Given the description of an element on the screen output the (x, y) to click on. 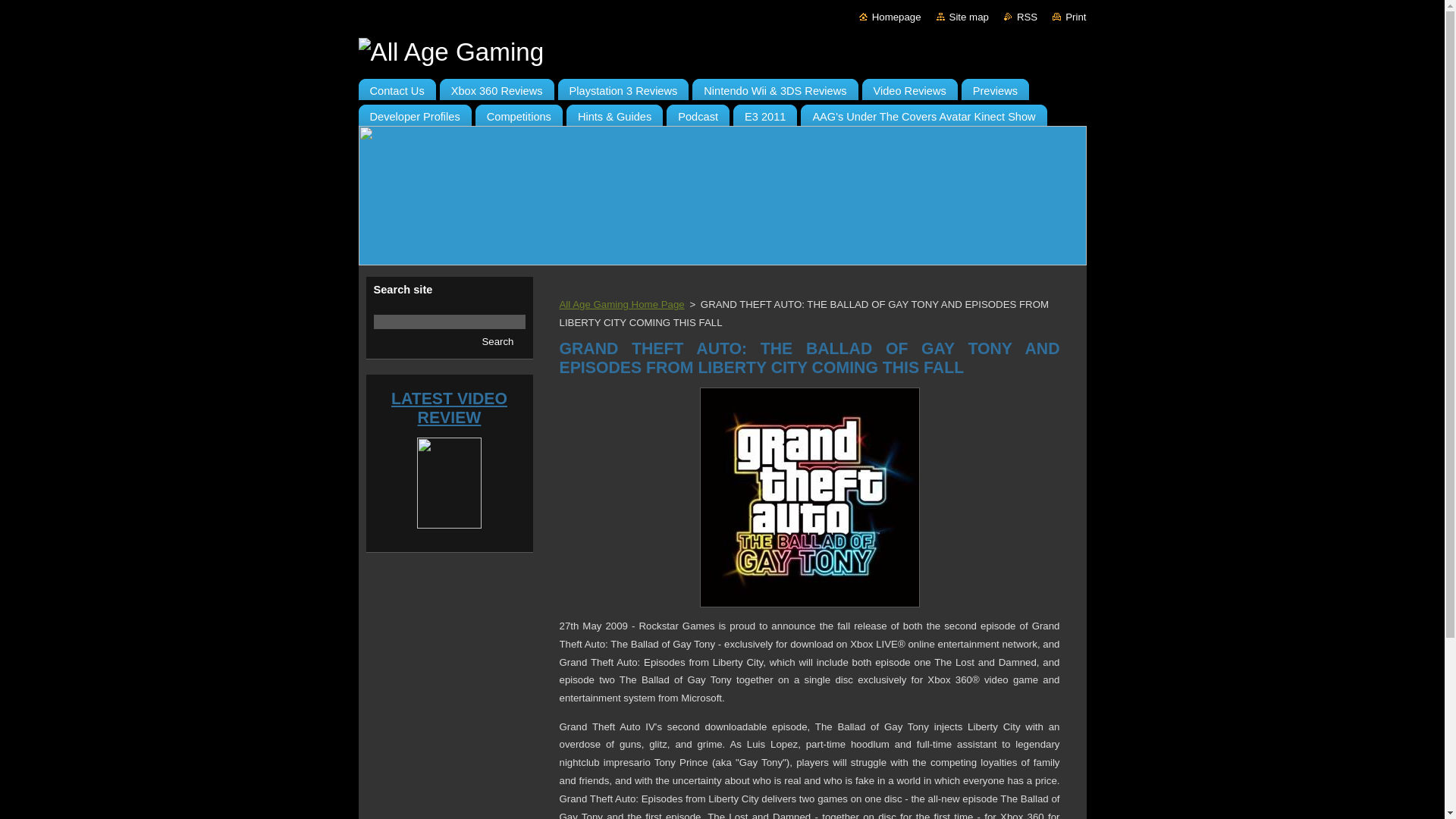
Xbox 360 Reviews (496, 86)
Go to Homepage. (890, 16)
AAG's Under The Covers Avatar Kinect Show (923, 112)
Previews (994, 86)
Go to Homepage. (722, 51)
Print page (1069, 16)
Video Reviews (908, 86)
RSS Feeds (1020, 16)
All Age Gaming Home Page (621, 304)
Go to site map. (962, 16)
Site map (962, 16)
Developer Profiles (414, 112)
Search (497, 341)
Print (1069, 16)
Competitions (519, 112)
